Given the description of an element on the screen output the (x, y) to click on. 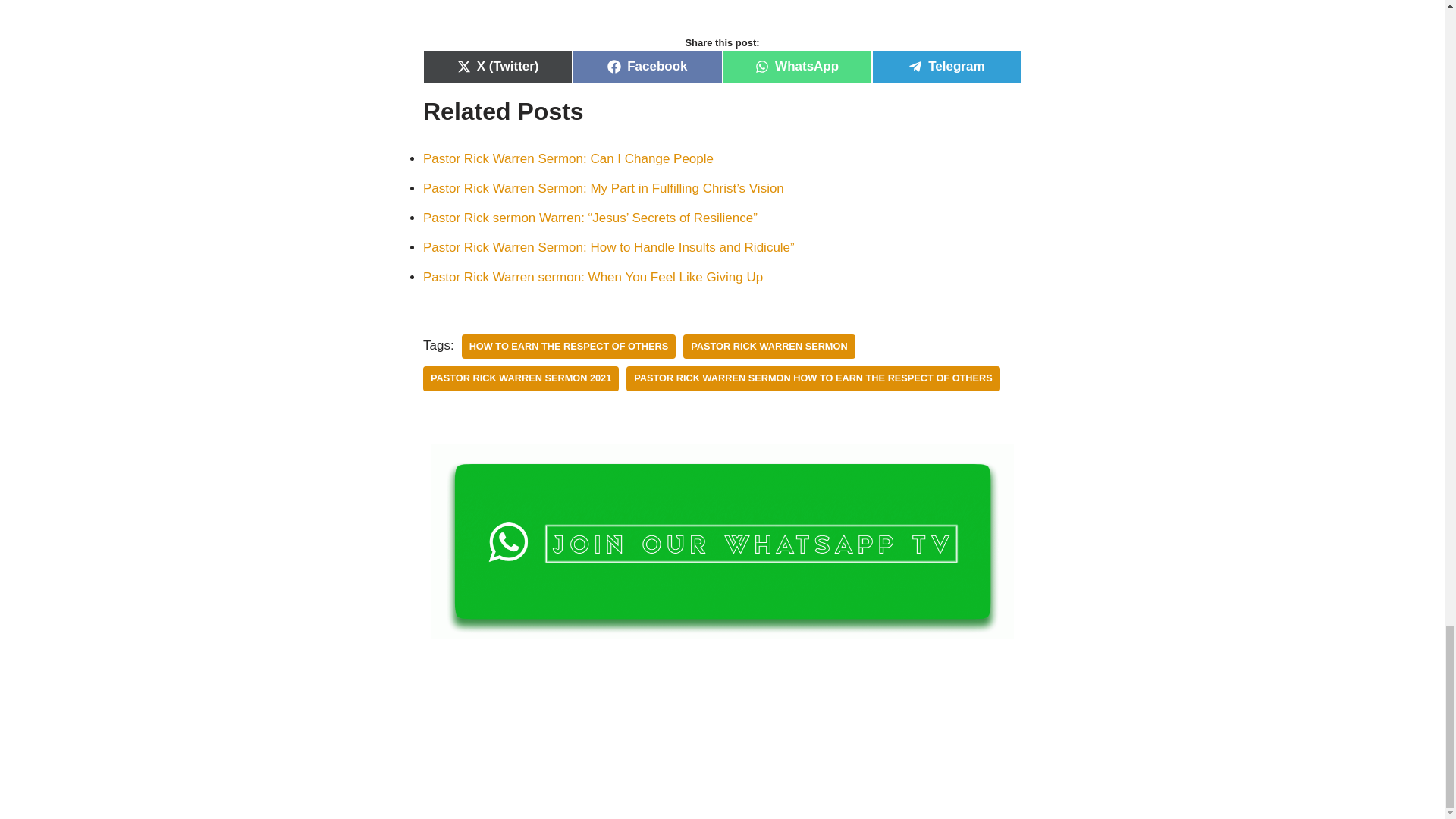
Facebook (647, 66)
PASTOR RICK WARREN SERMON HOW TO EARN THE RESPECT OF OTHERS (813, 378)
PASTOR RICK WARREN SERMON 2021 (520, 378)
Pastor Rick Warren sermon (768, 346)
"How to Earn the Respect of Others" with Pastor Rick Warren (722, 11)
Pastor Rick Warren sermon: When You Feel Like Giving Up (592, 277)
Pastor Rick Warren sermon How to Earn the Respect of Others (813, 378)
PASTOR RICK WARREN SERMON (768, 346)
pastor Rick Warren sermon 2021 (520, 378)
Pastor Rick Warren Sermon: Can I Change People (568, 158)
HOW TO EARN THE RESPECT OF OTHERS (569, 346)
How to Earn the Respect of Others (569, 346)
Telegram (947, 66)
WhatsApp (796, 66)
